Given the description of an element on the screen output the (x, y) to click on. 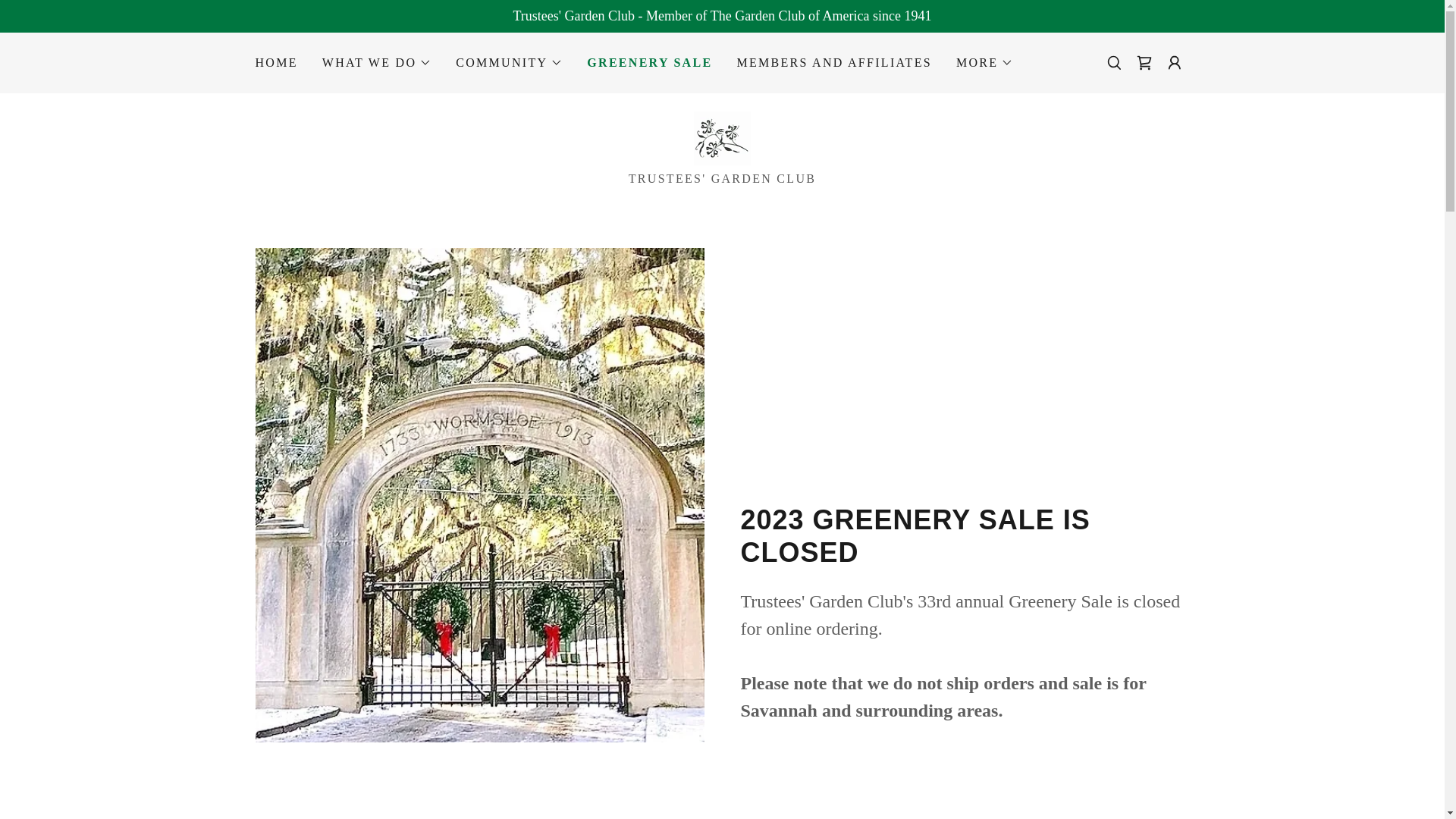
HOME (275, 62)
MORE (984, 63)
COMMUNITY (508, 63)
MEMBERS AND AFFILIATES (834, 62)
WHAT WE DO (376, 63)
GREENERY SALE (648, 63)
